Given the description of an element on the screen output the (x, y) to click on. 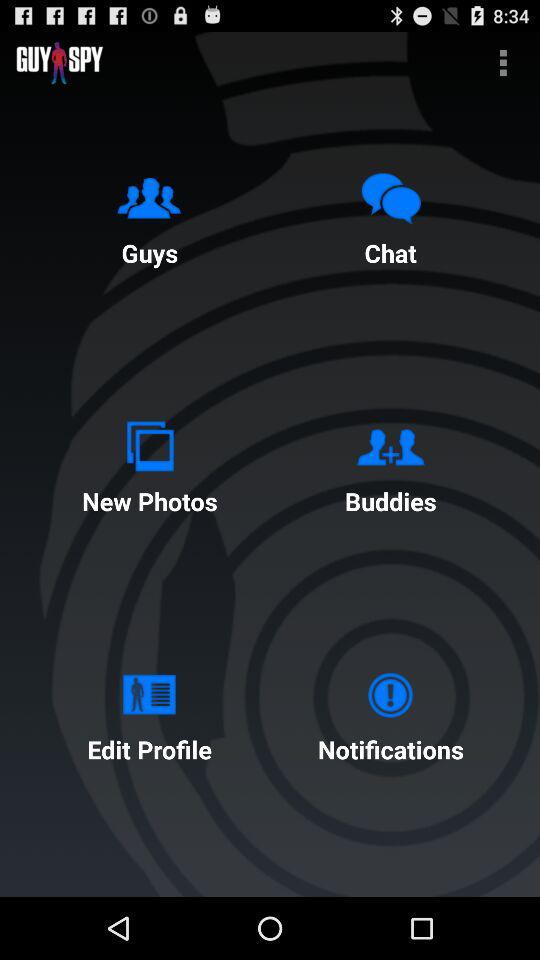
select item below the guys (149, 463)
